Given the description of an element on the screen output the (x, y) to click on. 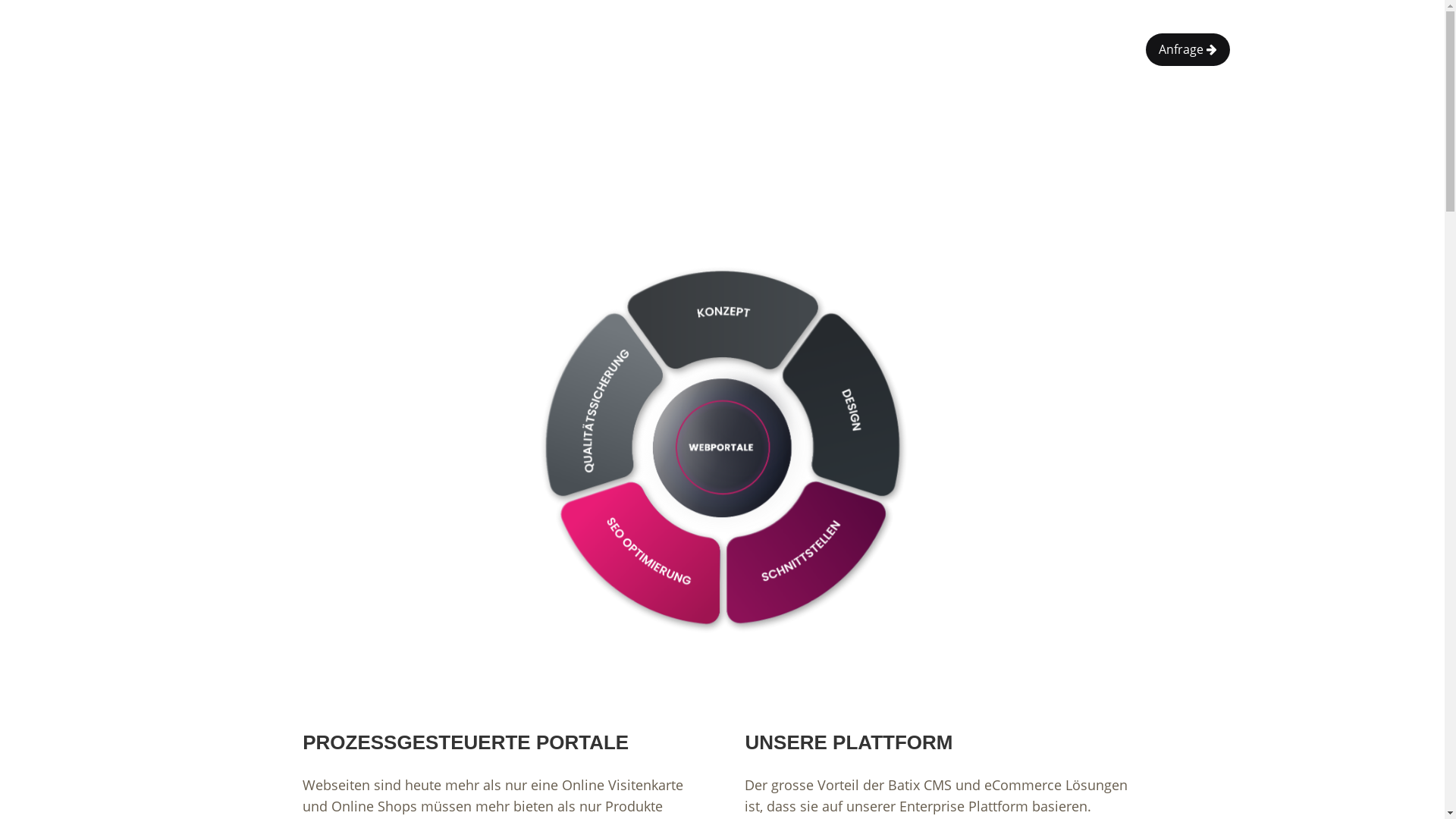
eCommerce Element type: text (547, 48)
Anfrage Element type: text (1187, 49)
CMS Element type: text (480, 48)
Projekte Element type: text (427, 48)
UX Design Element type: text (355, 48)
BX:WEBPORTALE Element type: text (260, 48)
